Given the description of an element on the screen output the (x, y) to click on. 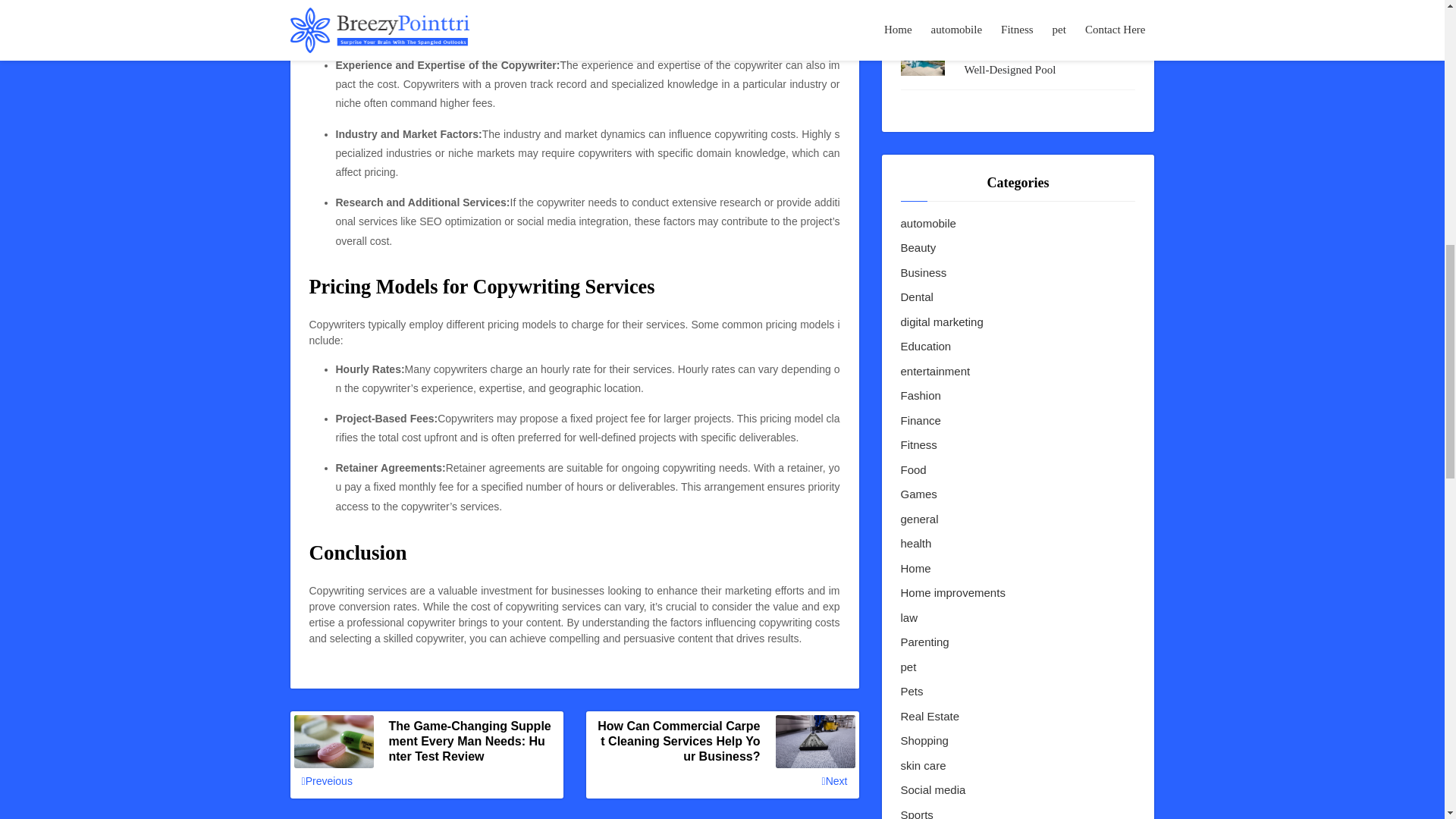
Preveious (326, 781)
Fitness (919, 445)
Enhance Your Property Value with a Well-Designed Pool (1049, 60)
health (916, 543)
Business (924, 272)
Next (834, 781)
digital marketing (942, 322)
Education (926, 346)
